Given the description of an element on the screen output the (x, y) to click on. 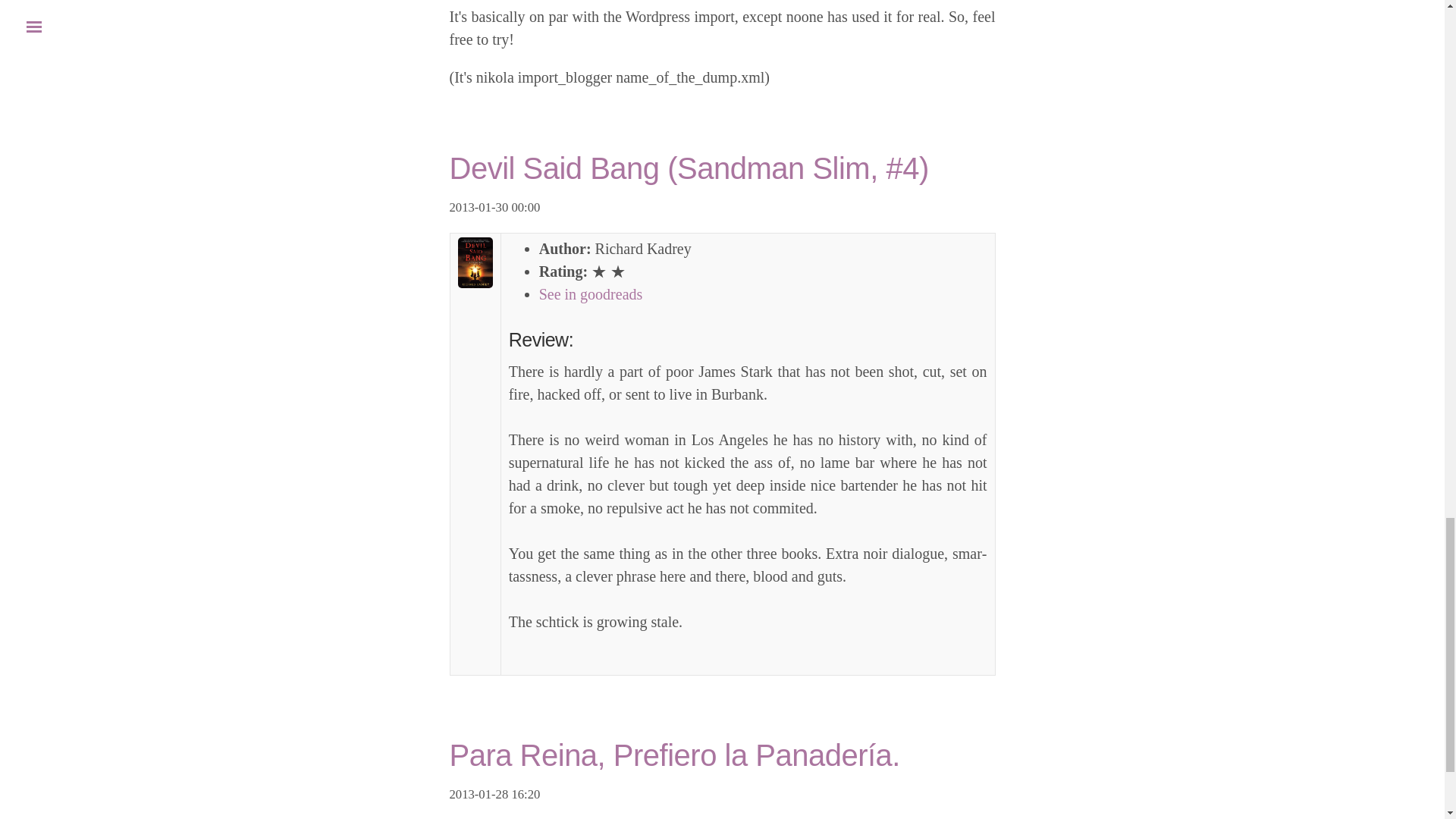
See in goodreads (590, 293)
